Given the description of an element on the screen output the (x, y) to click on. 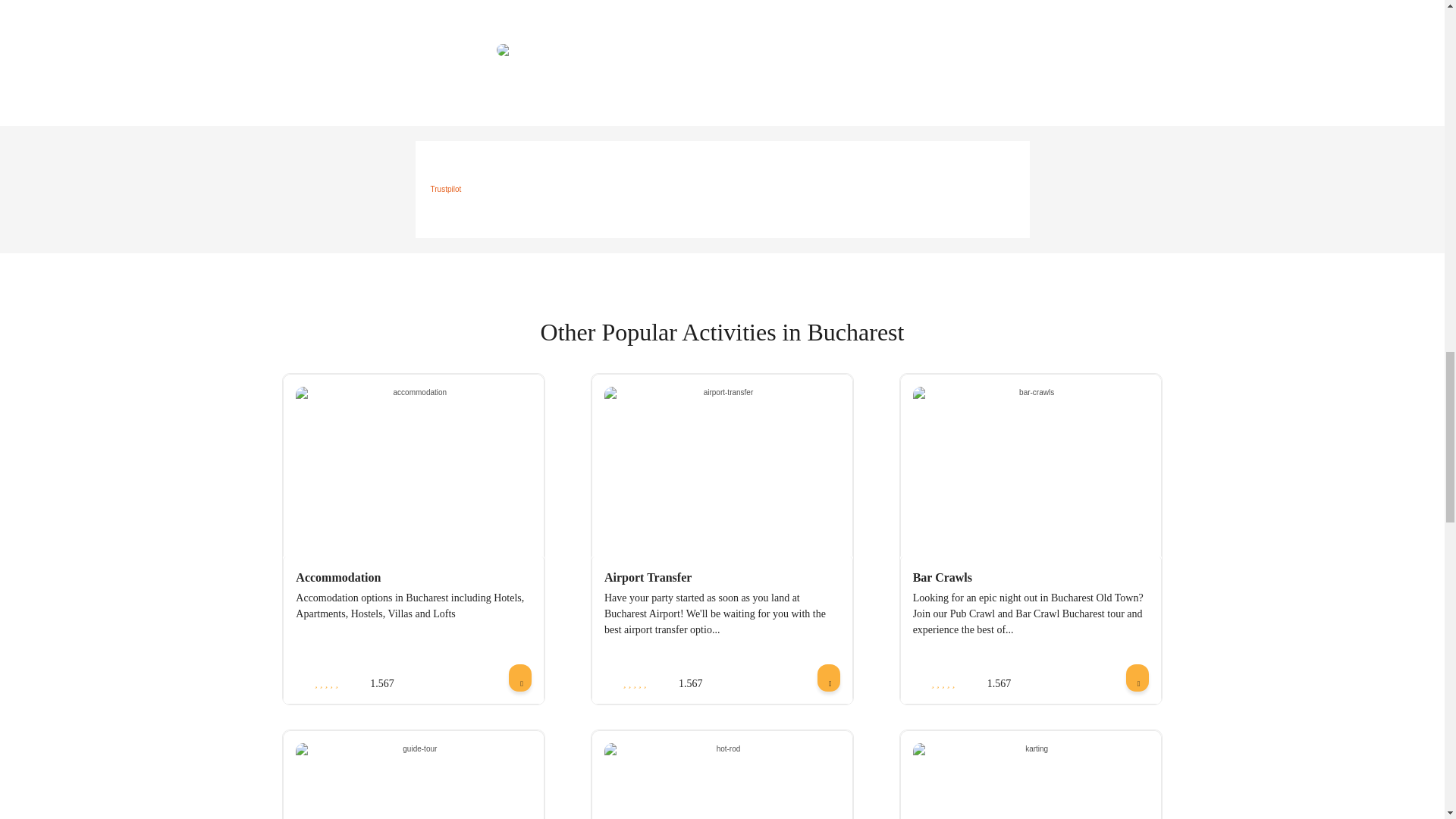
Trustpilot (445, 189)
